Given the description of an element on the screen output the (x, y) to click on. 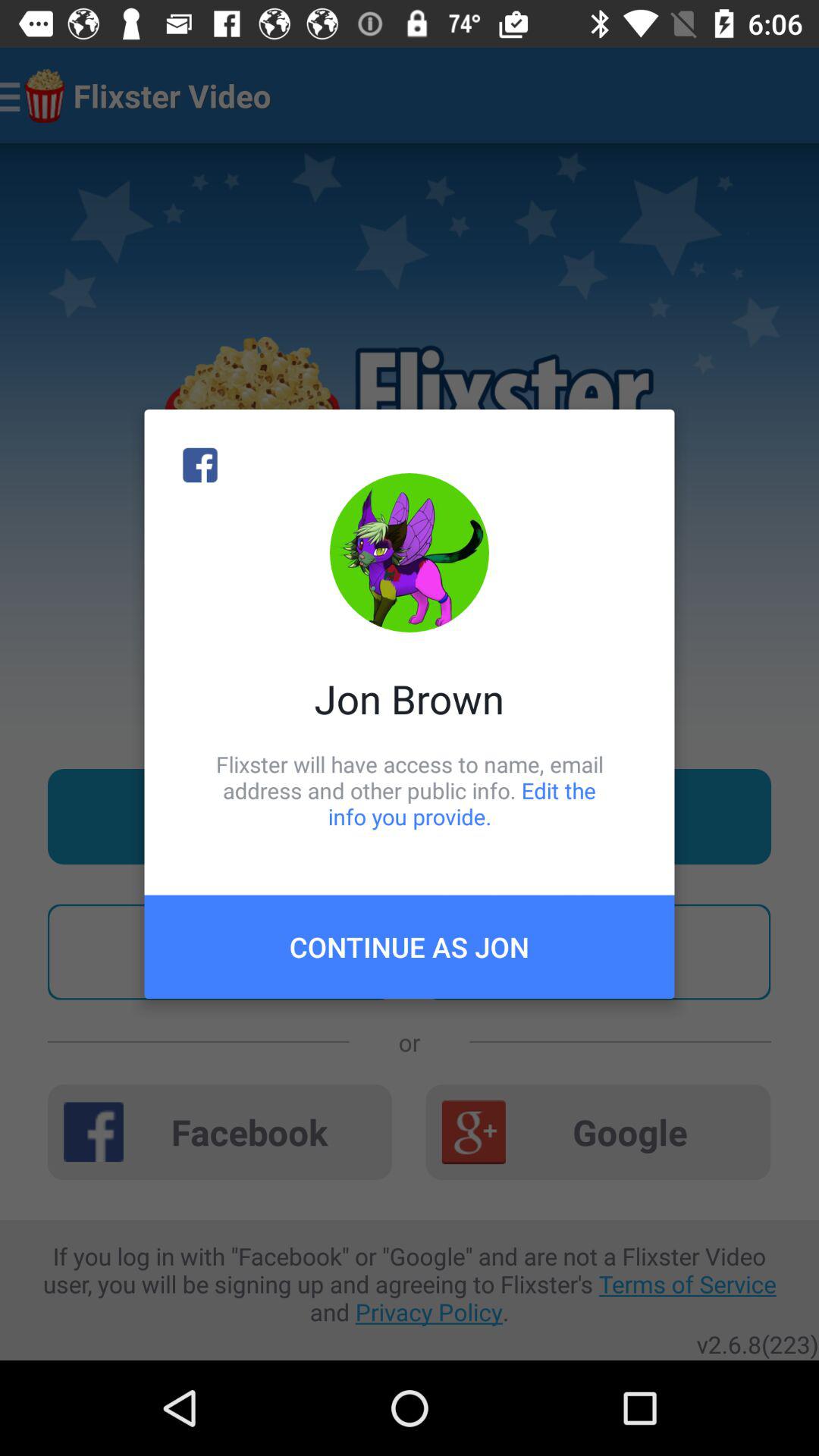
turn on icon below flixster will have (409, 946)
